Given the description of an element on the screen output the (x, y) to click on. 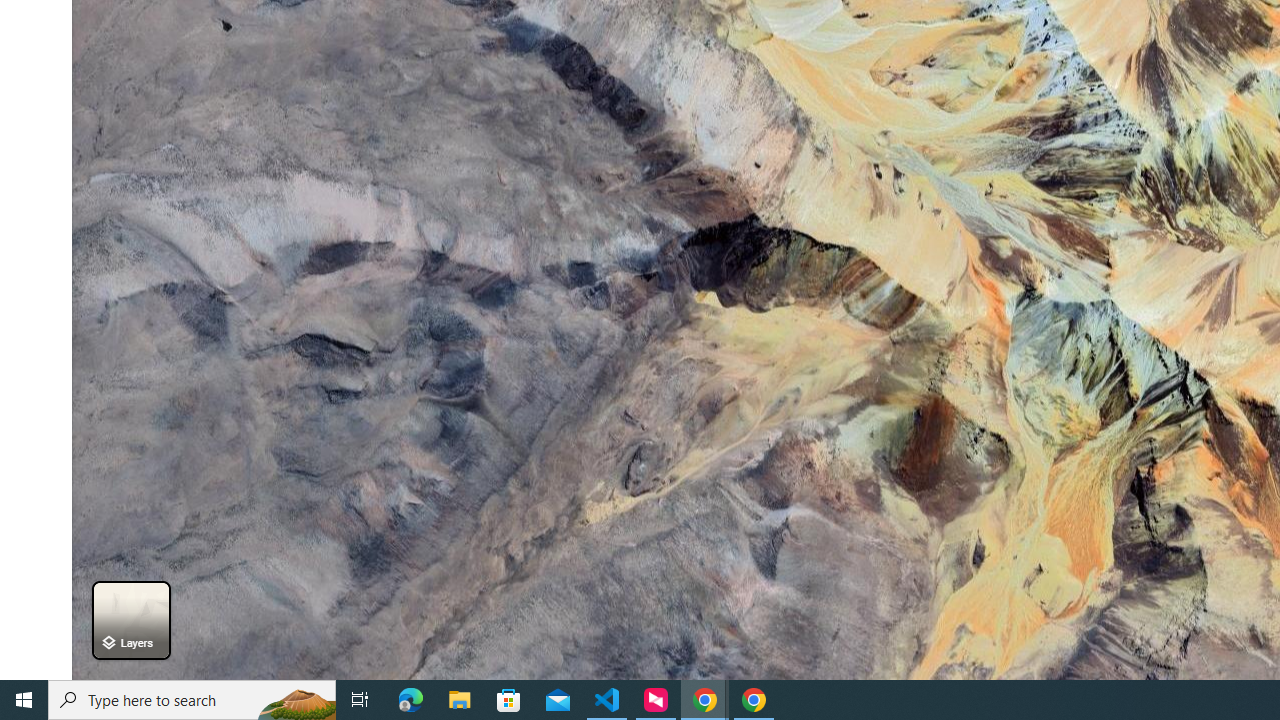
Layers (130, 620)
